Given the description of an element on the screen output the (x, y) to click on. 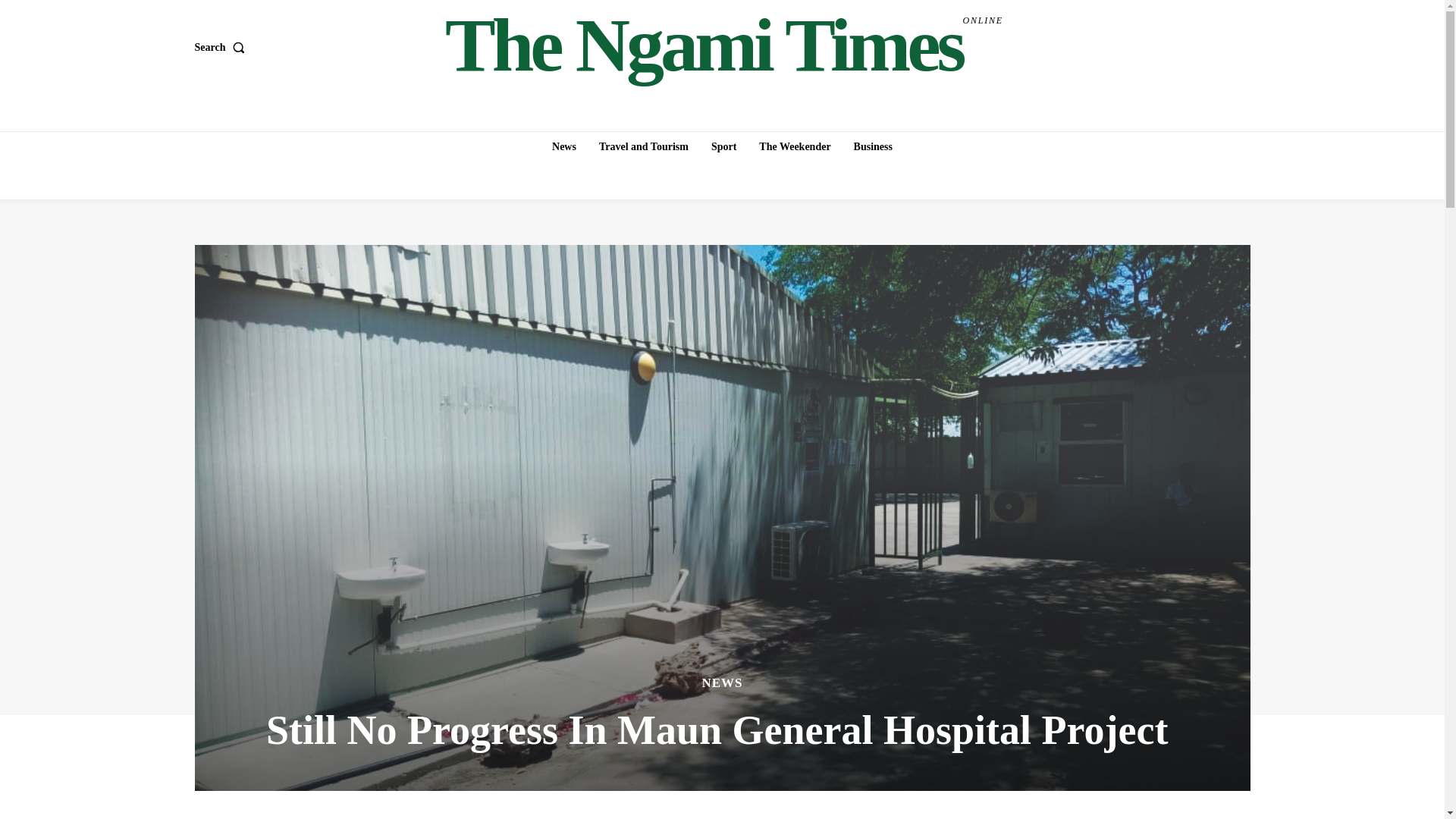
The Weekender (794, 146)
Travel and Tourism (643, 146)
News (724, 45)
Search (563, 146)
Sport (221, 47)
Business (723, 146)
NEWS (872, 146)
